Given the description of an element on the screen output the (x, y) to click on. 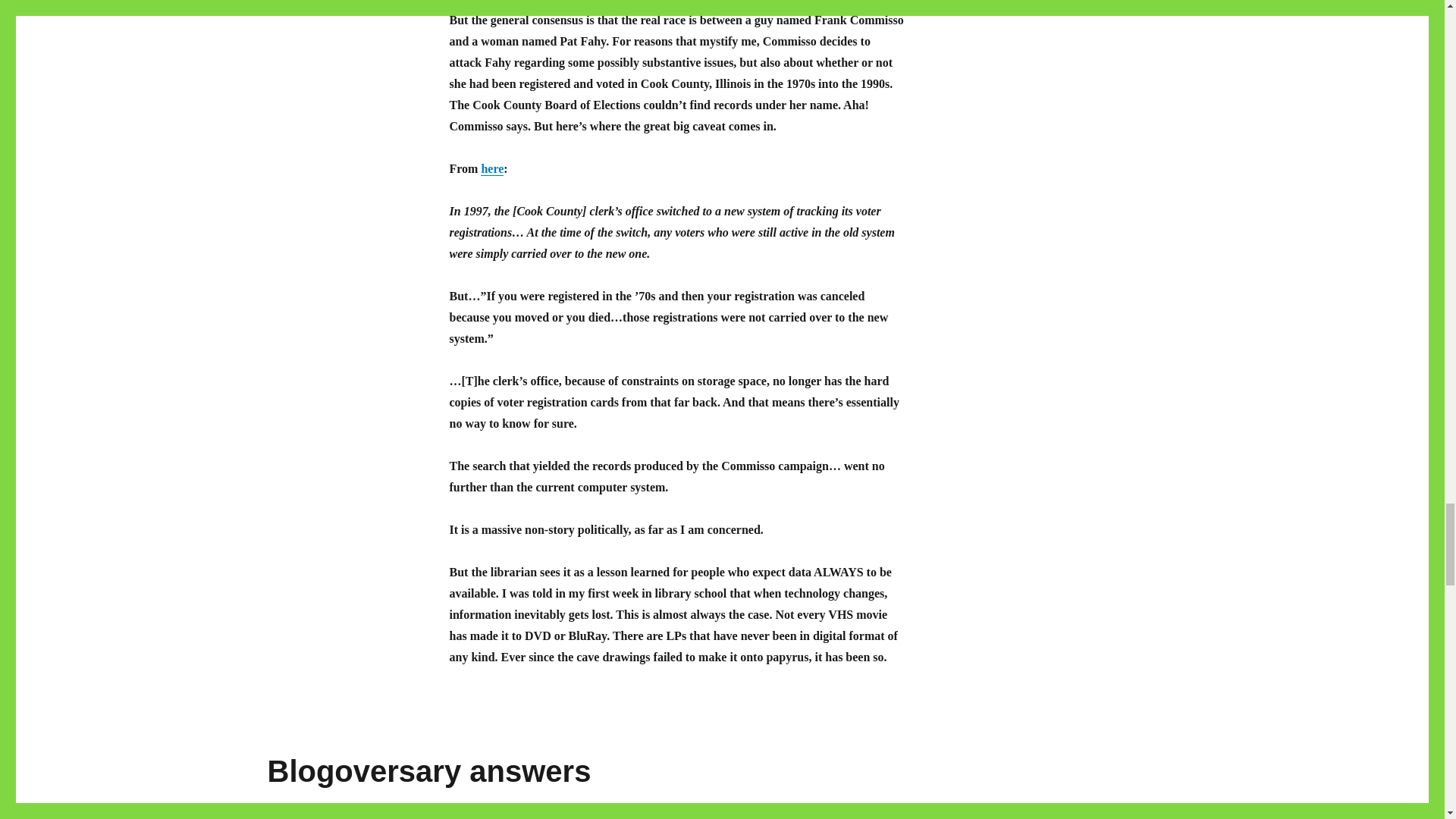
Blogoversary answers (428, 770)
here (491, 168)
